Given the description of an element on the screen output the (x, y) to click on. 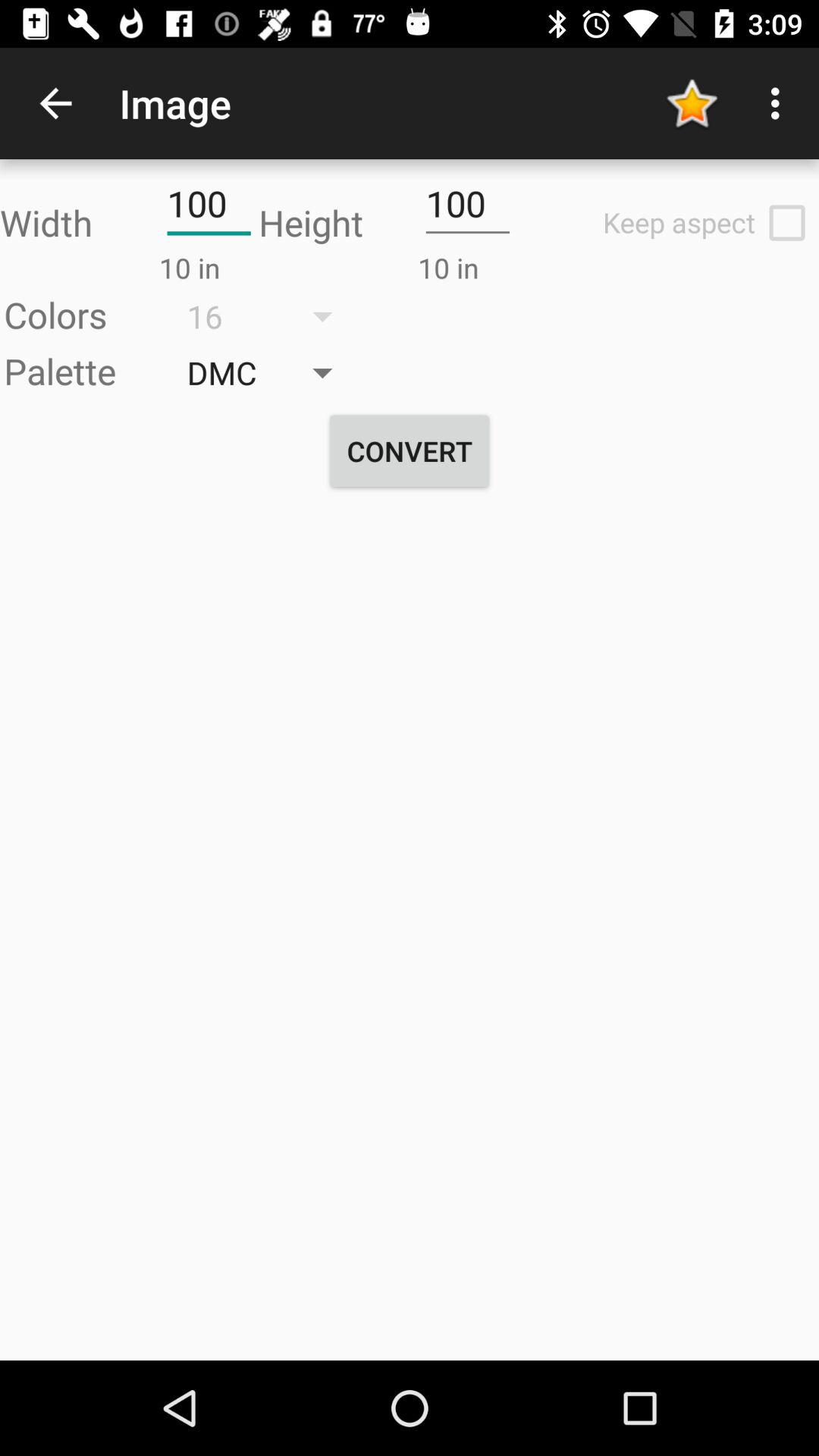
select the colors drop down 16 (270, 316)
click on the yellow color star (691, 103)
click on the text field of width (208, 203)
click on the button dmc which is next to palette (270, 372)
click on the convert button (409, 451)
